Given the description of an element on the screen output the (x, y) to click on. 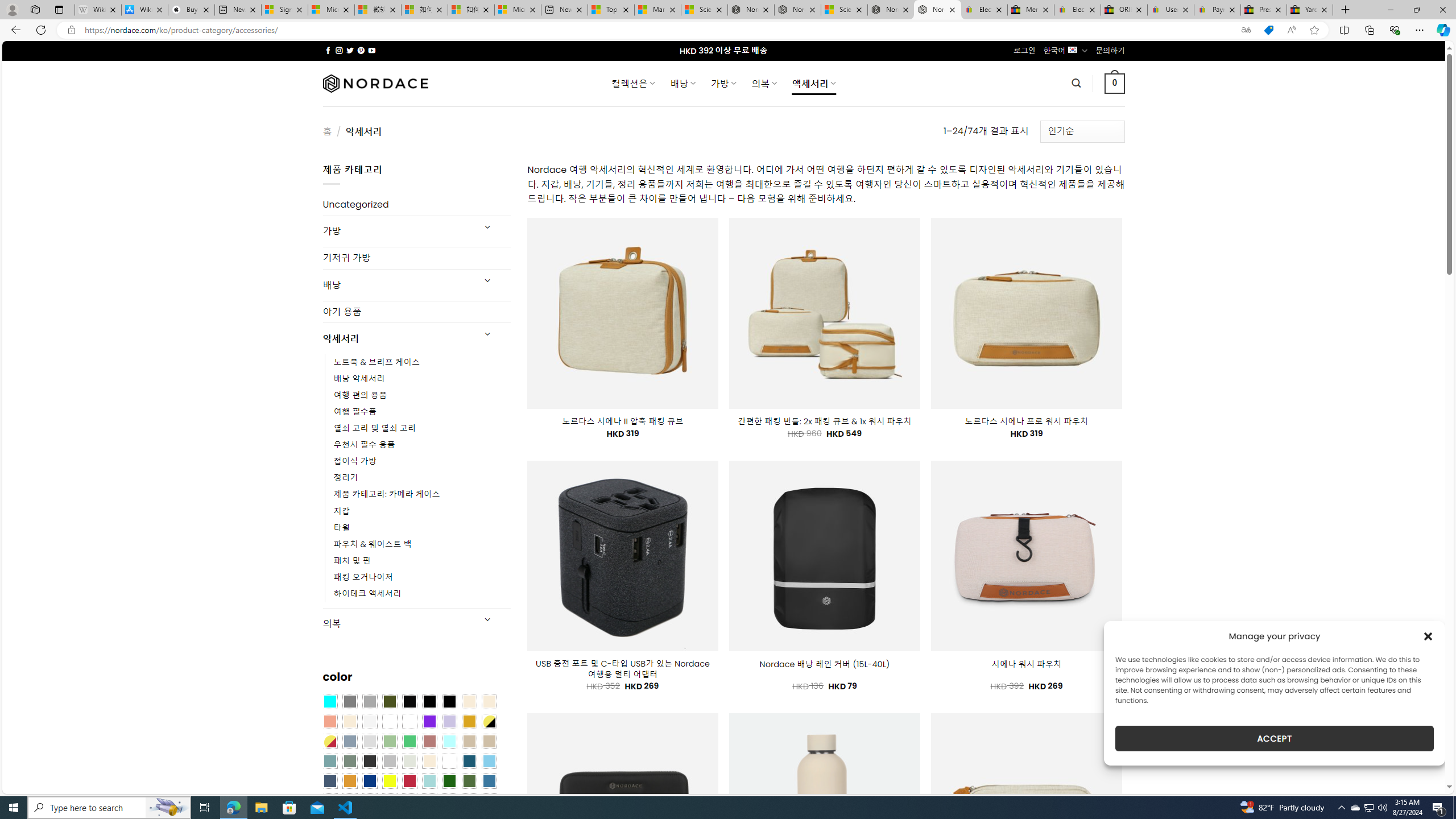
Marine life - MSN (656, 9)
